Given the description of an element on the screen output the (x, y) to click on. 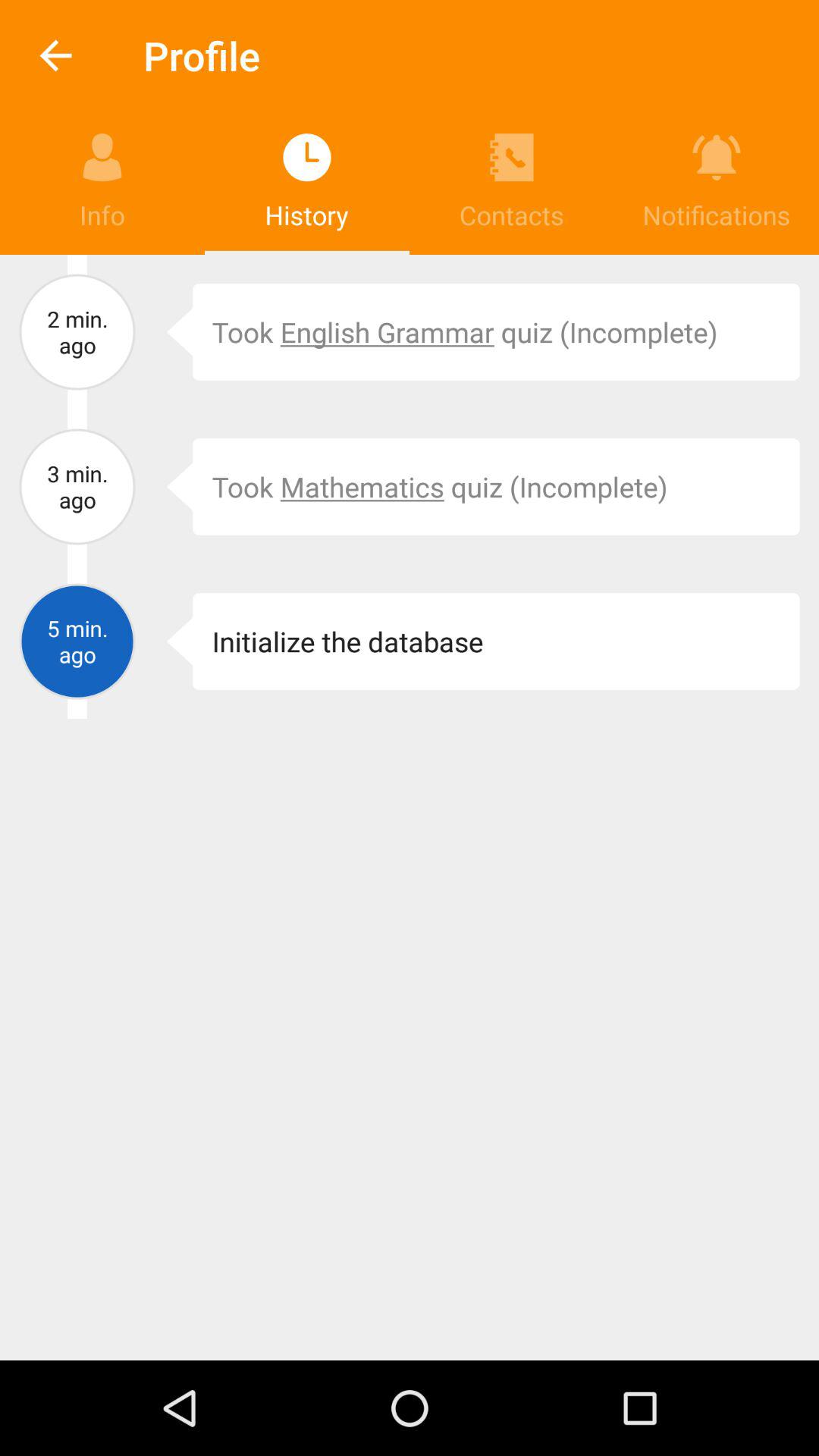
launch item below info item (77, 331)
